Given the description of an element on the screen output the (x, y) to click on. 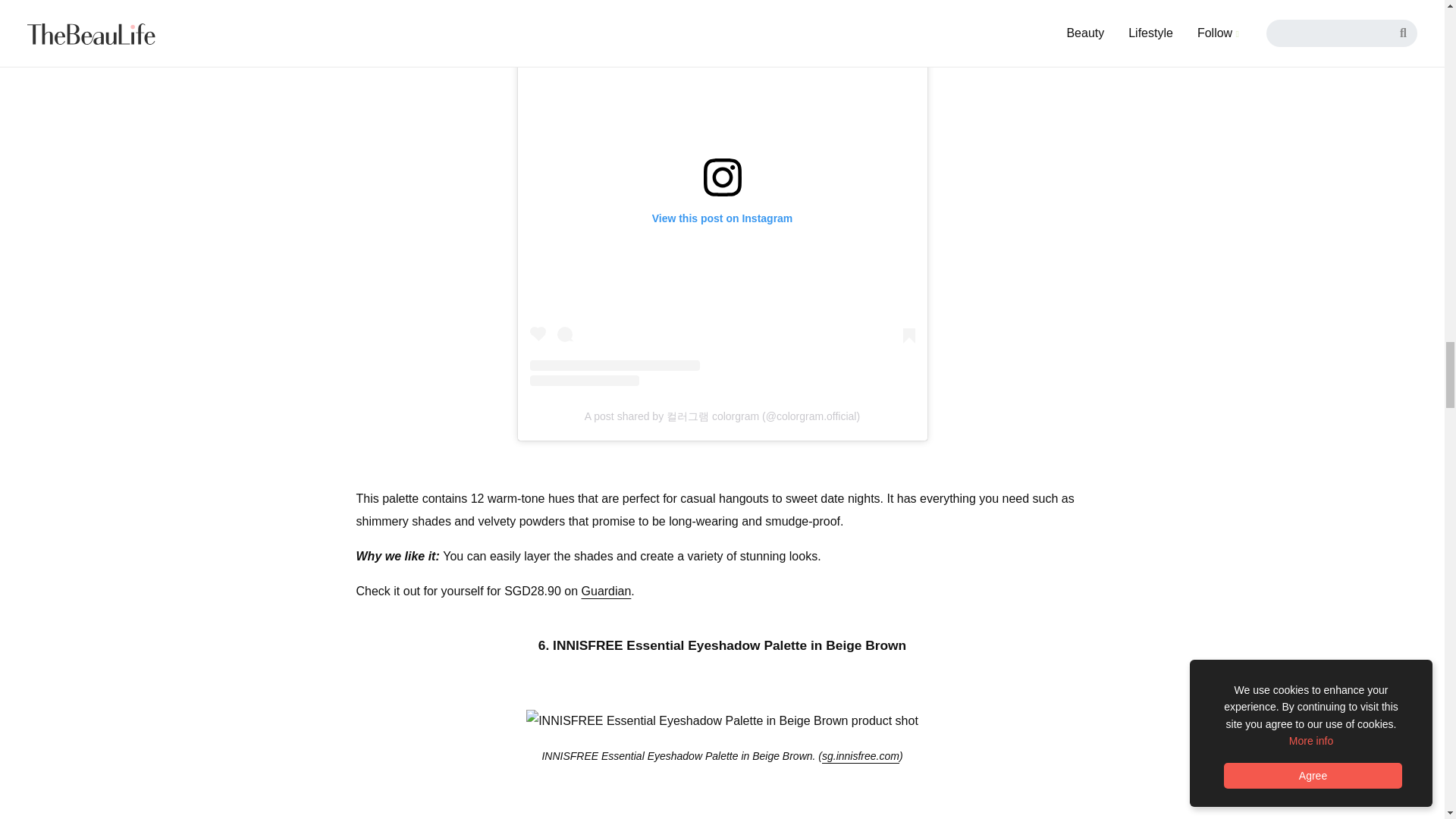
INNISFREE Essential Eyeshadow Palette in Beige Brown (721, 721)
